Given the description of an element on the screen output the (x, y) to click on. 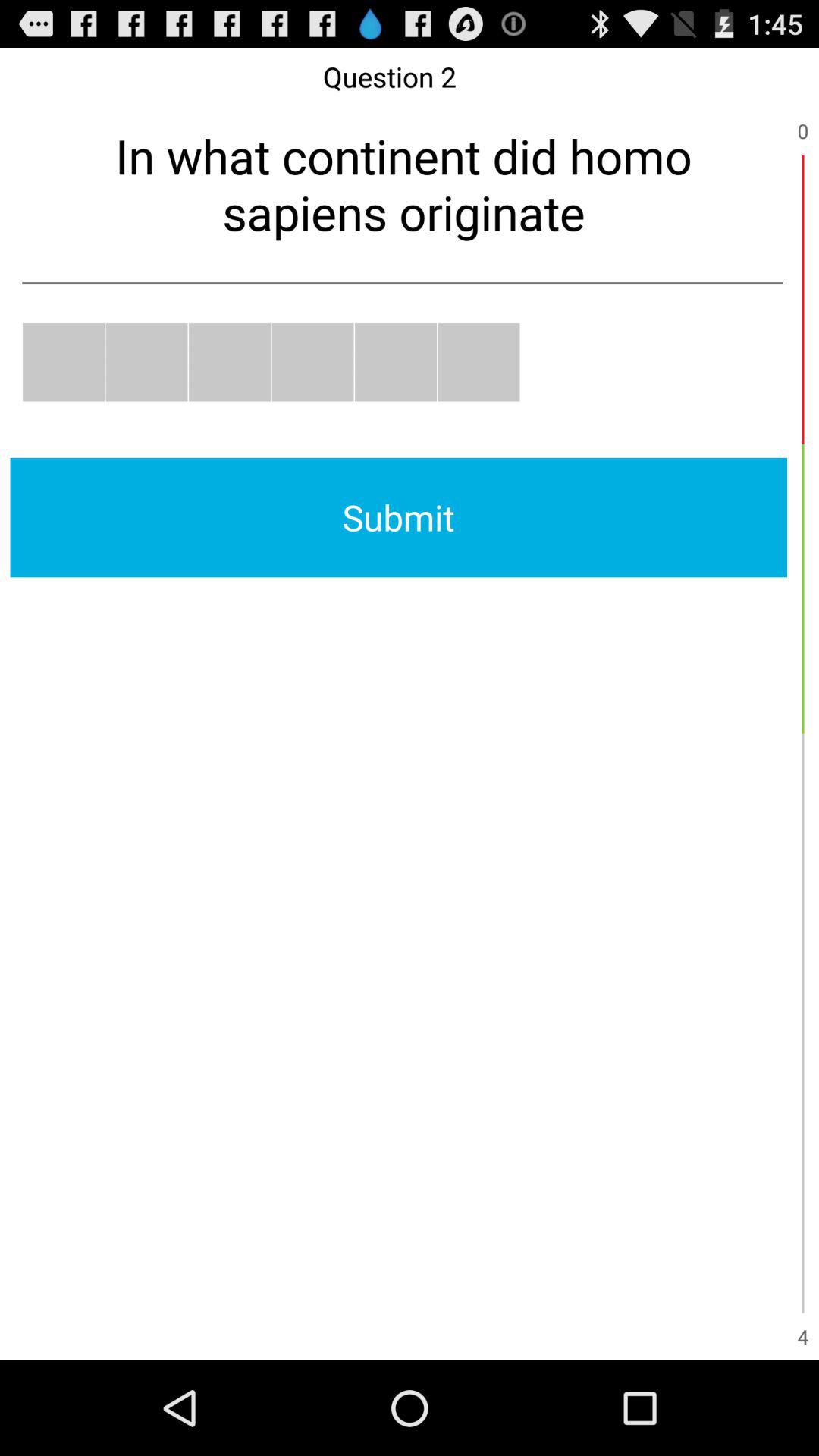
turn on the icon above the submit item (146, 362)
